Given the description of an element on the screen output the (x, y) to click on. 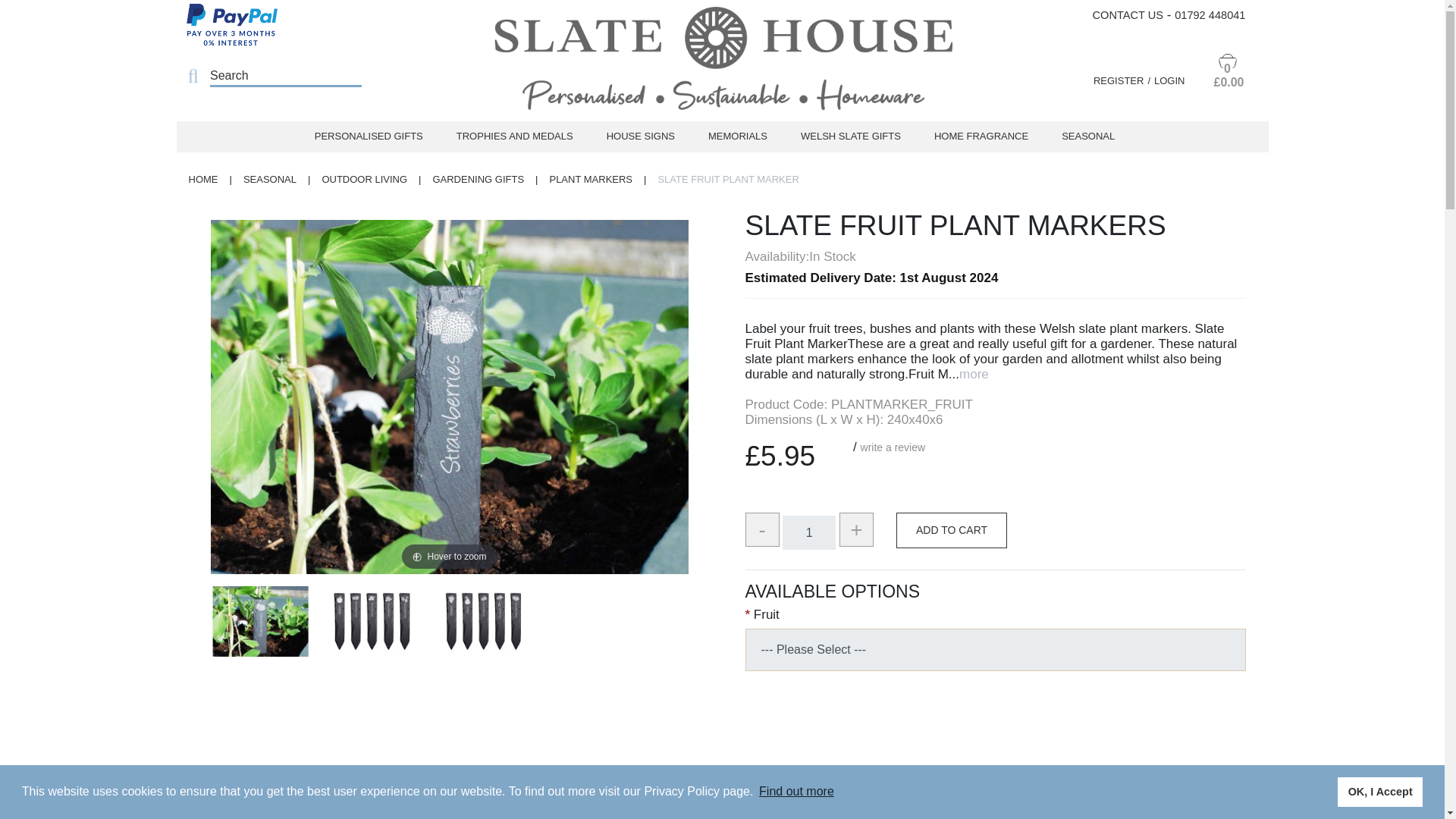
1 (809, 532)
CONTACT US (1128, 15)
MEMORIALS (737, 136)
REGISTER (1123, 80)
TROPHIES AND MEDALS (514, 136)
01792 448041 (1209, 15)
PERSONALISED GIFTS (368, 136)
HOUSE SIGNS (640, 136)
LOGIN (1169, 80)
OK, I Accept (1380, 791)
Slate House (722, 65)
Find out more (796, 791)
